Given the description of an element on the screen output the (x, y) to click on. 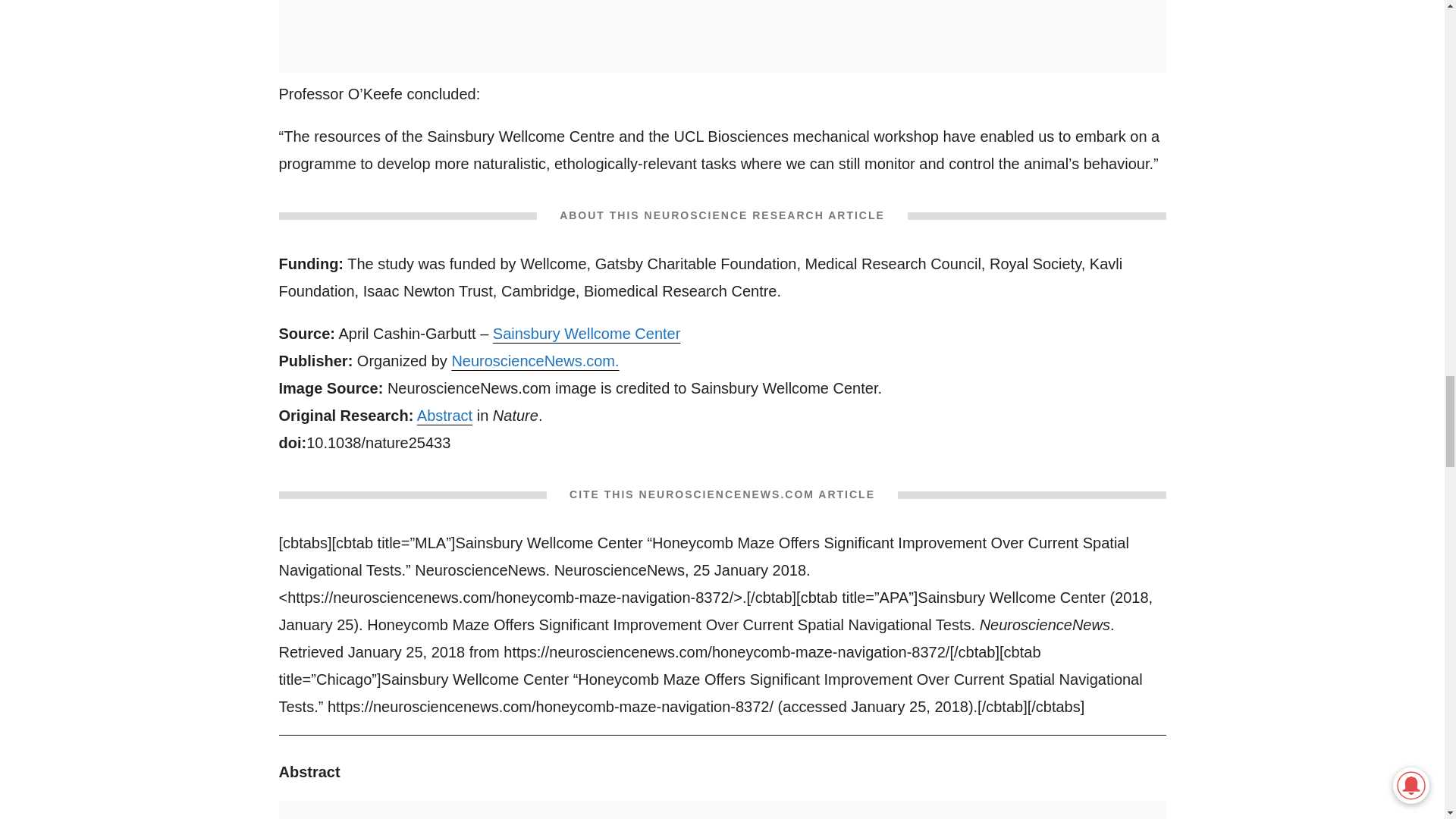
NeuroscienceNews.com. (534, 360)
Sainsbury Wellcome Center (587, 333)
Abstract (443, 415)
